Given the description of an element on the screen output the (x, y) to click on. 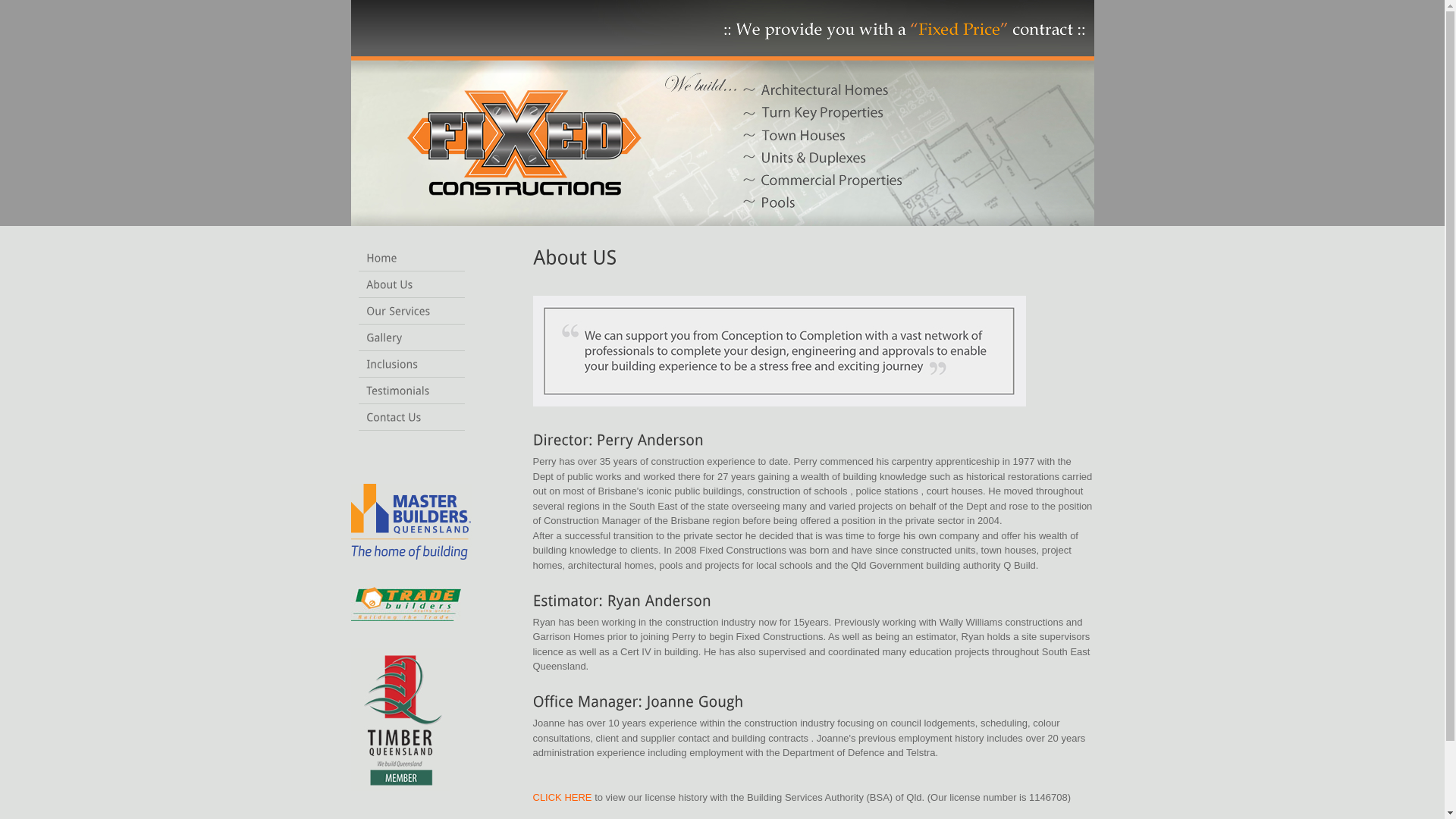
CLICK HERE Element type: text (561, 797)
